Given the description of an element on the screen output the (x, y) to click on. 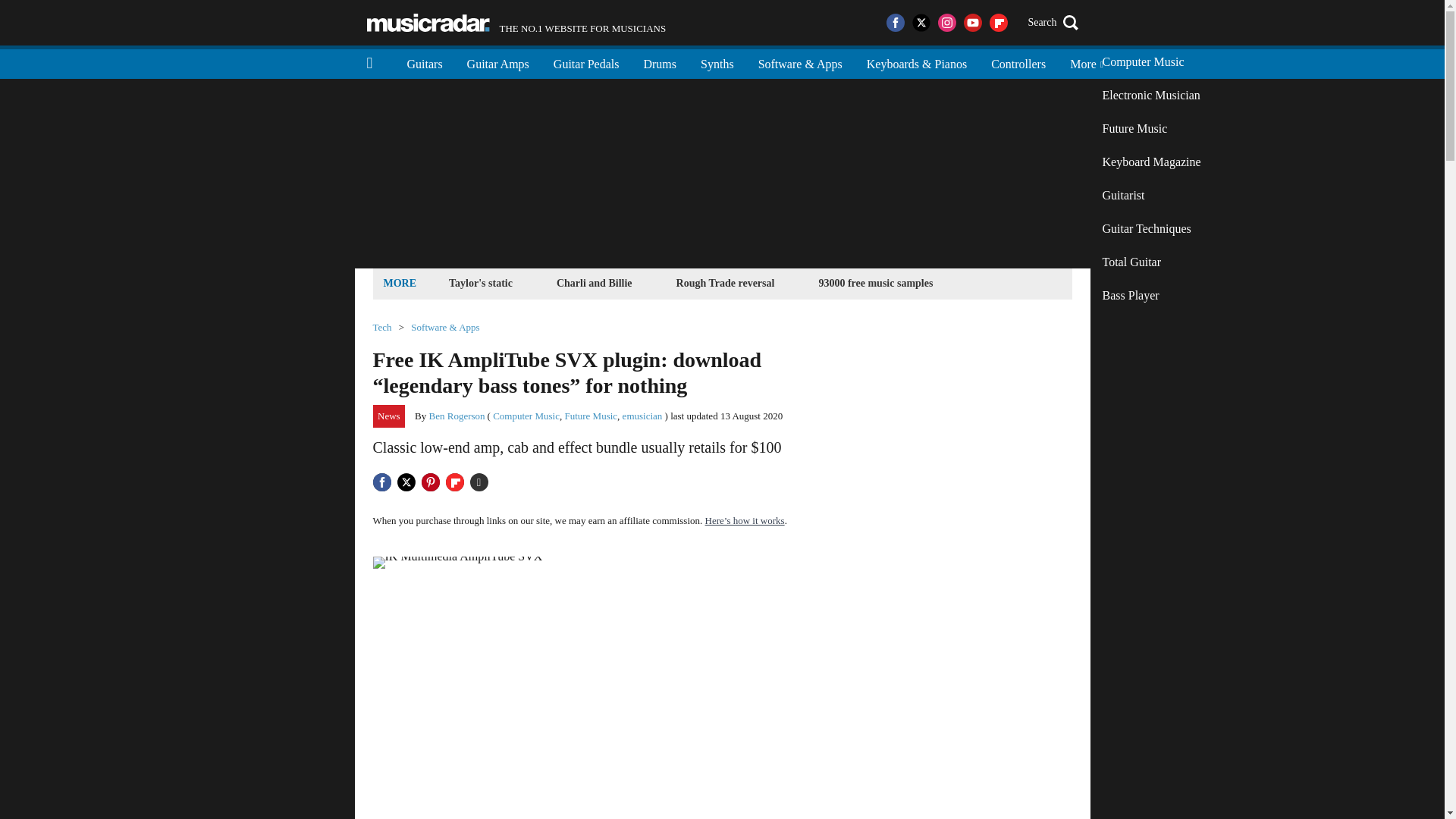
Guitarist (1151, 195)
93000 free music samples (516, 22)
Charli and Billie (874, 282)
Electronic Musician (594, 282)
Guitar Amps (1151, 95)
Future Music (497, 61)
Guitar Techniques (1151, 128)
Total Guitar (1151, 228)
Synths (1151, 262)
